Given the description of an element on the screen output the (x, y) to click on. 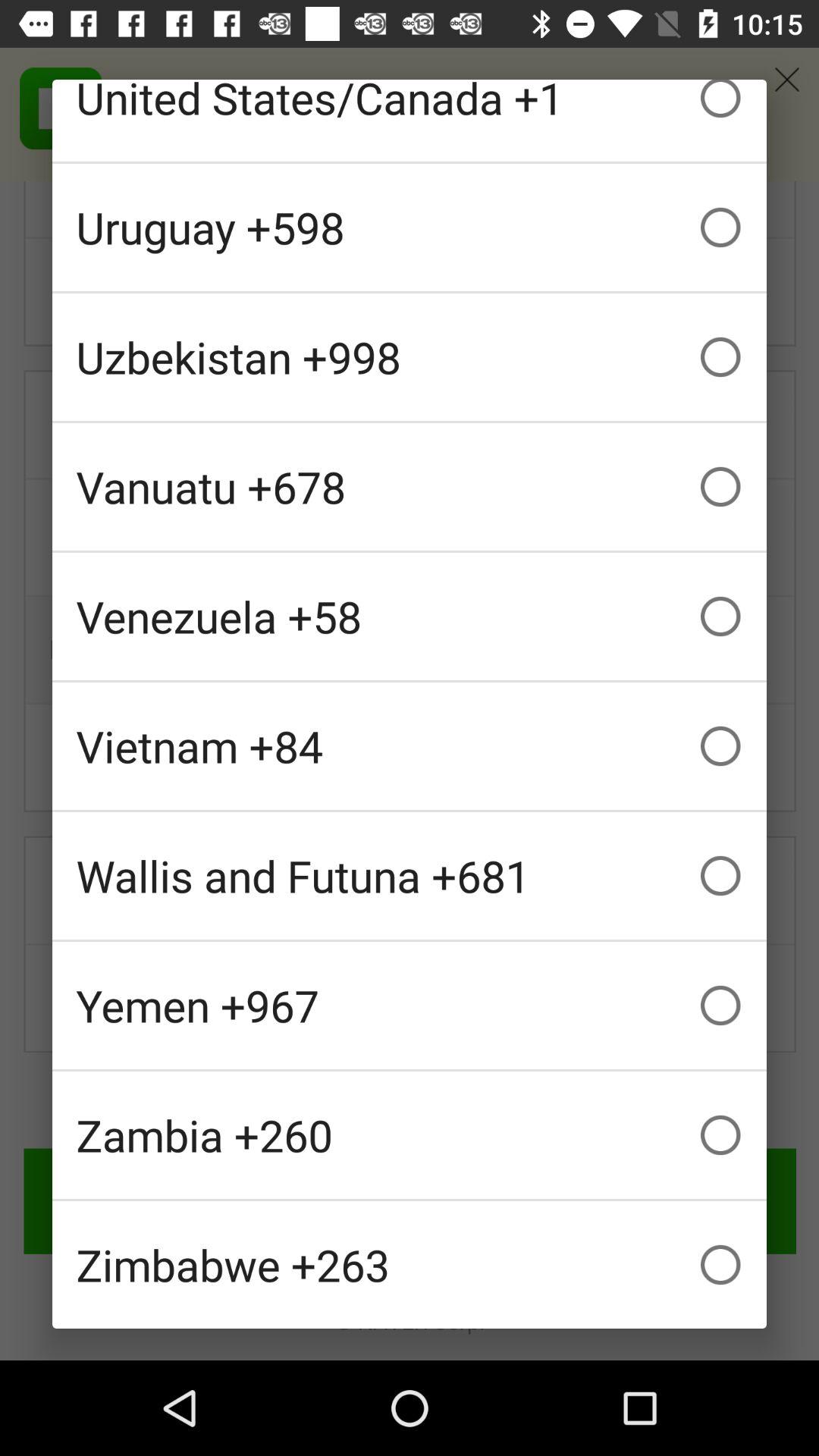
open icon above the wallis and futuna item (409, 745)
